Given the description of an element on the screen output the (x, y) to click on. 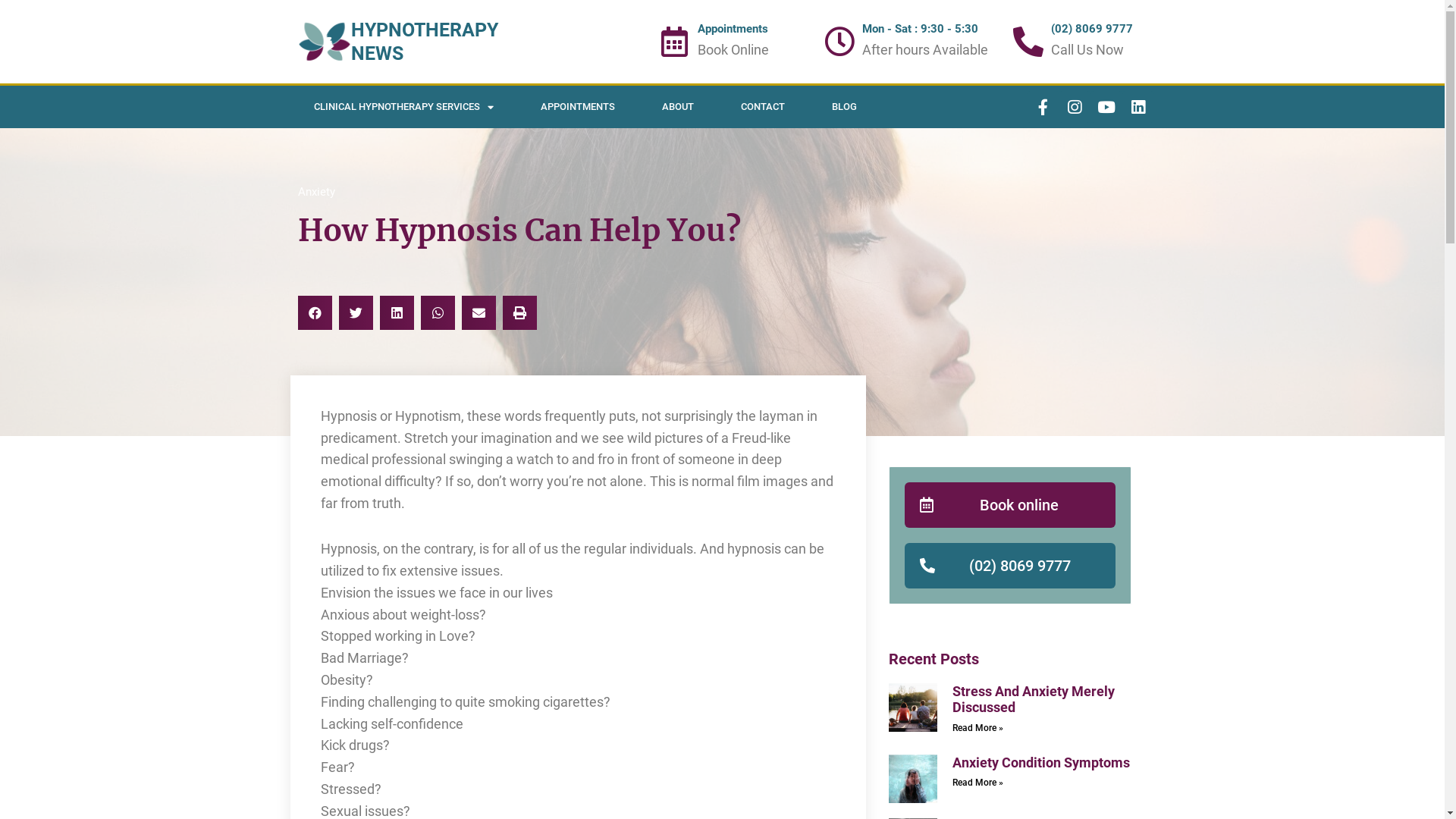
(02) 8069 9777 Element type: text (1091, 28)
Anxiety Element type: text (315, 191)
(02) 8069 9777 Element type: text (1009, 565)
Facebook-f Element type: text (1042, 106)
BLOG Element type: text (844, 106)
Instagram Element type: text (1074, 106)
Anxiety Condition Symptoms Element type: text (1040, 762)
Appointments Element type: text (732, 28)
CLINICAL HYPNOTHERAPY SERVICES Element type: text (402, 106)
APPOINTMENTS Element type: text (577, 106)
HYPNOTHERAPY
NEWS Element type: text (423, 41)
Stress And Anxiety Merely Discussed Element type: text (1033, 699)
ABOUT Element type: text (677, 106)
Youtube Element type: text (1106, 106)
Linkedin Element type: text (1138, 106)
CONTACT Element type: text (762, 106)
Book online Element type: text (1009, 504)
